Given the description of an element on the screen output the (x, y) to click on. 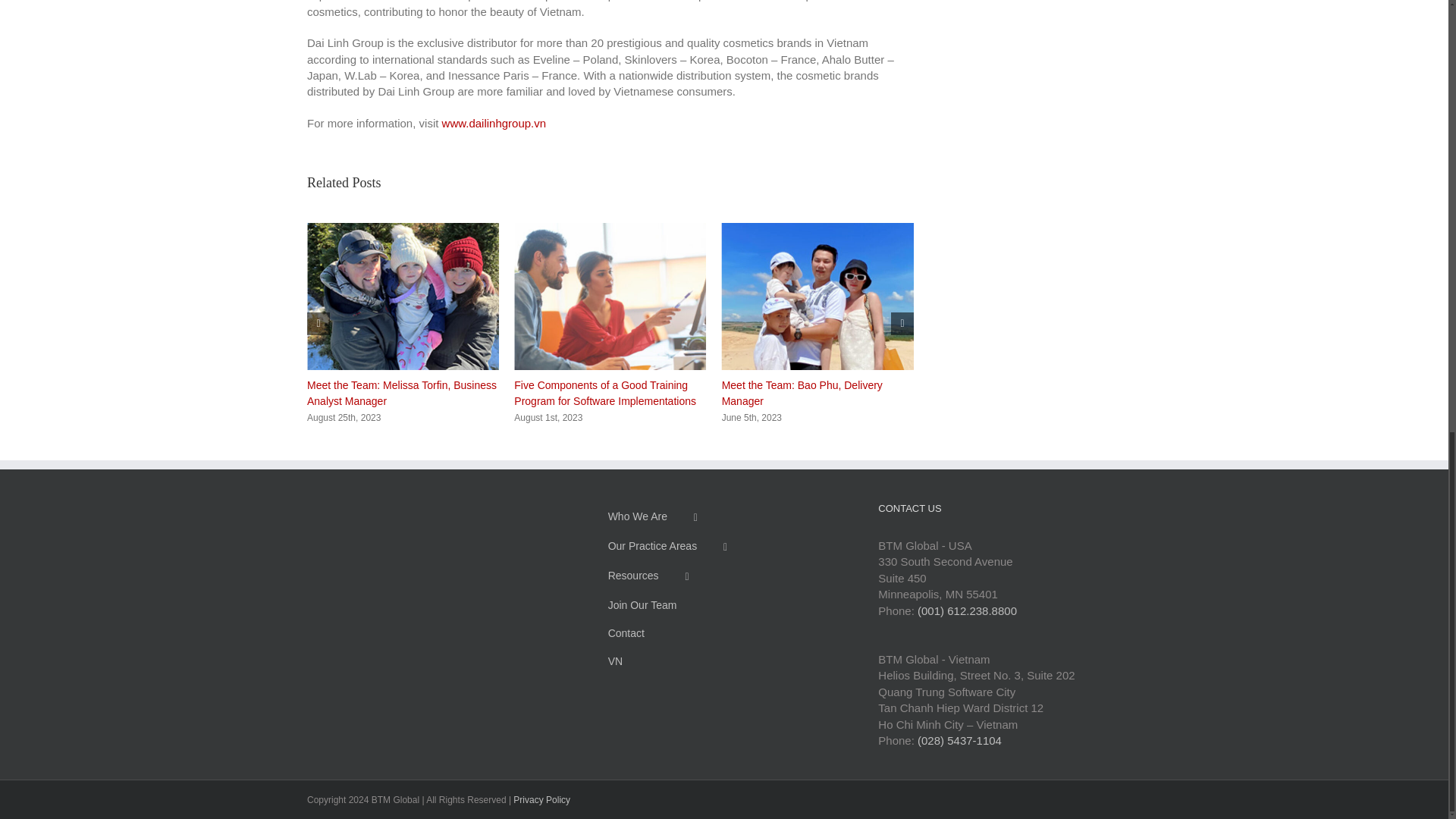
Meet the Team: Melissa Torfin, Business Analyst Manager (401, 393)
Meet the Team: Bao Phu, Delivery Manager (802, 393)
